Given the description of an element on the screen output the (x, y) to click on. 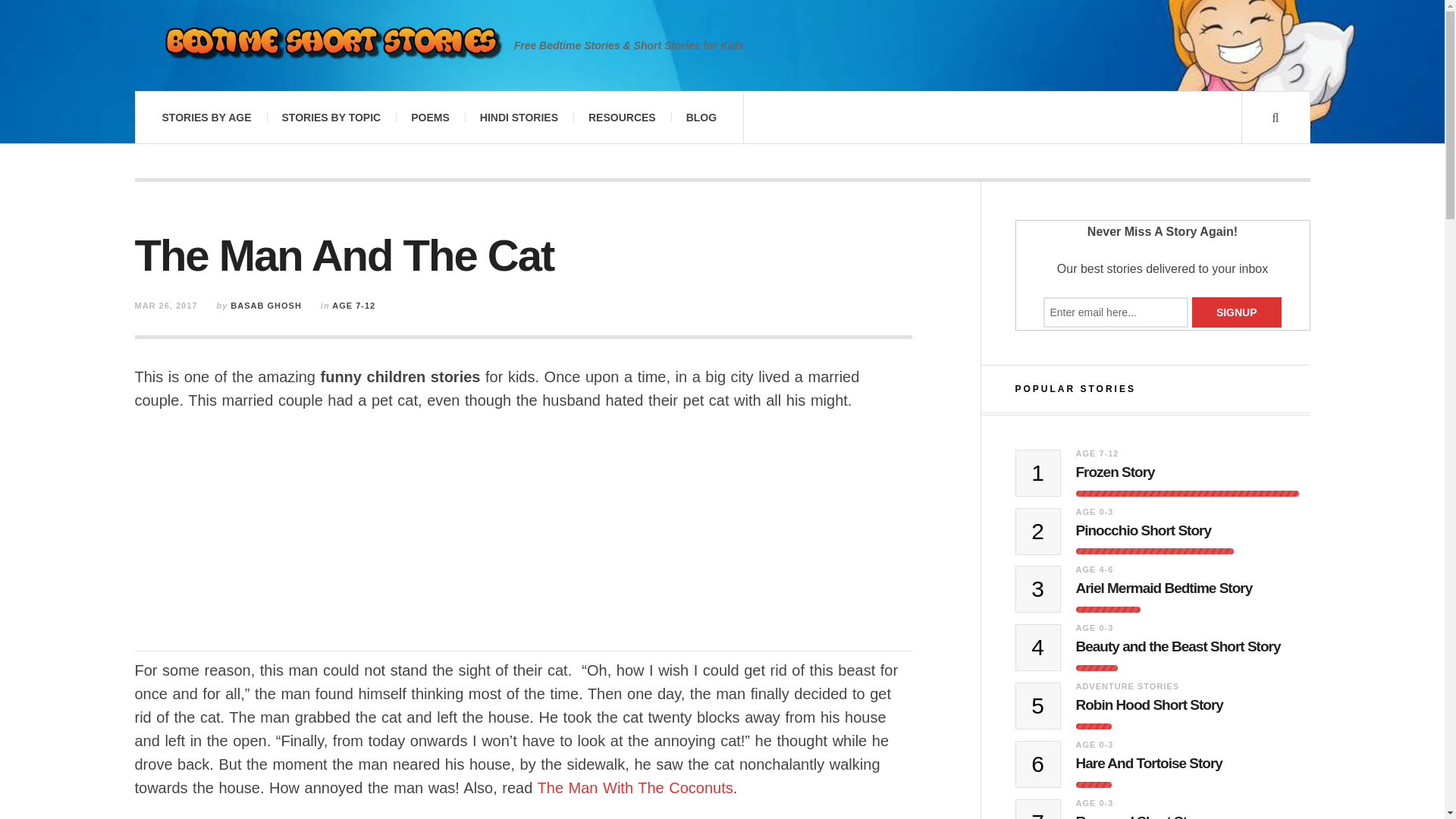
View all posts in Age 0-3 (1094, 511)
View all posts in Age 7-12 (1096, 452)
View all posts in Age 0-3 (1094, 627)
POEMS (430, 117)
STORIES BY TOPIC (331, 117)
Bedtimeshortstories (331, 44)
Signup (1236, 312)
Enter email here... (1115, 312)
RESOURCES (622, 117)
View all posts in Age 7-12 (353, 305)
View all posts in Age 4-6 (1094, 569)
HINDI STORIES (518, 117)
STORIES BY AGE (206, 117)
BLOG (701, 117)
